Given the description of an element on the screen output the (x, y) to click on. 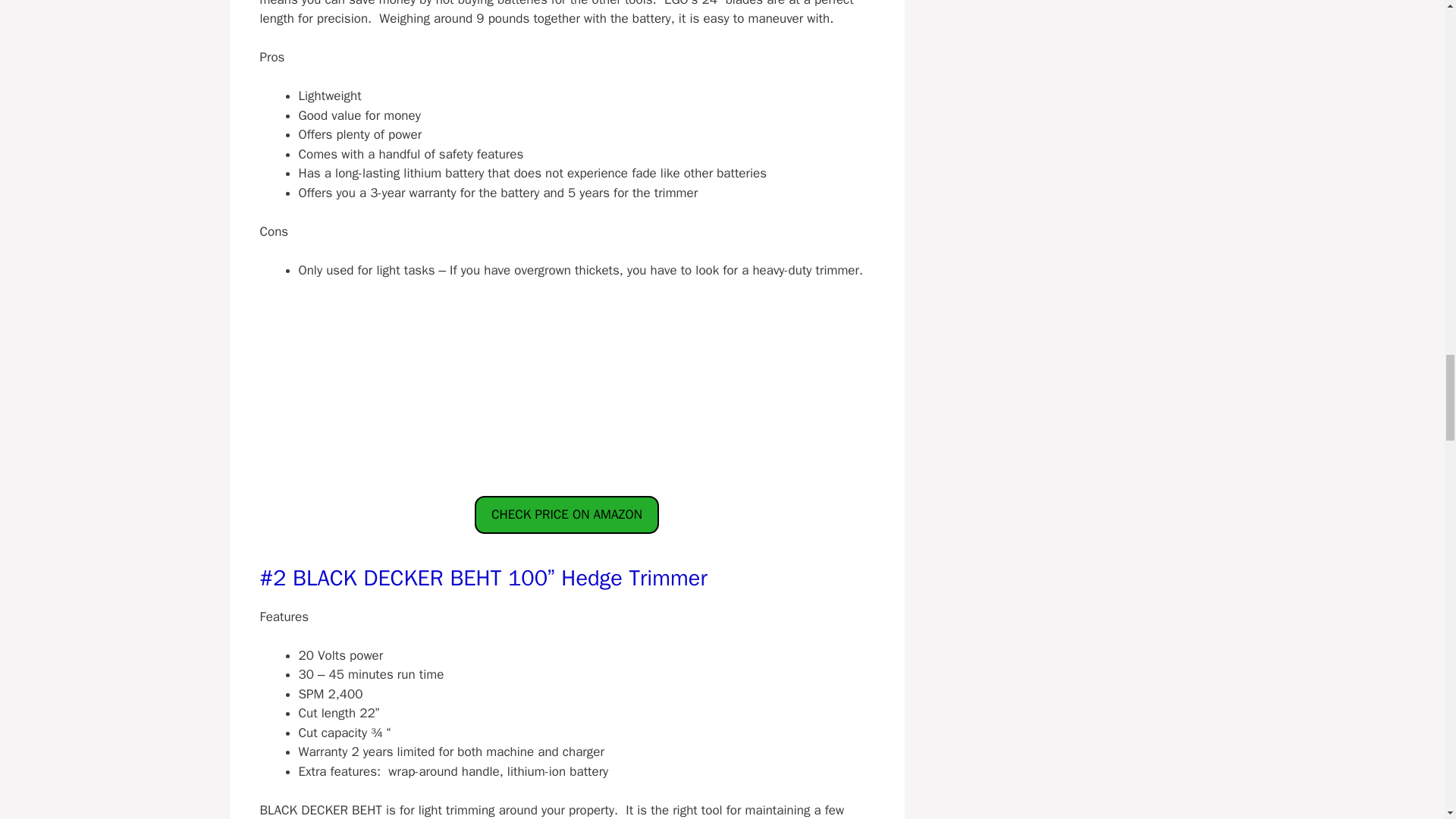
best battery operated hedge trimmer - Ego Power (566, 381)
